Given the description of an element on the screen output the (x, y) to click on. 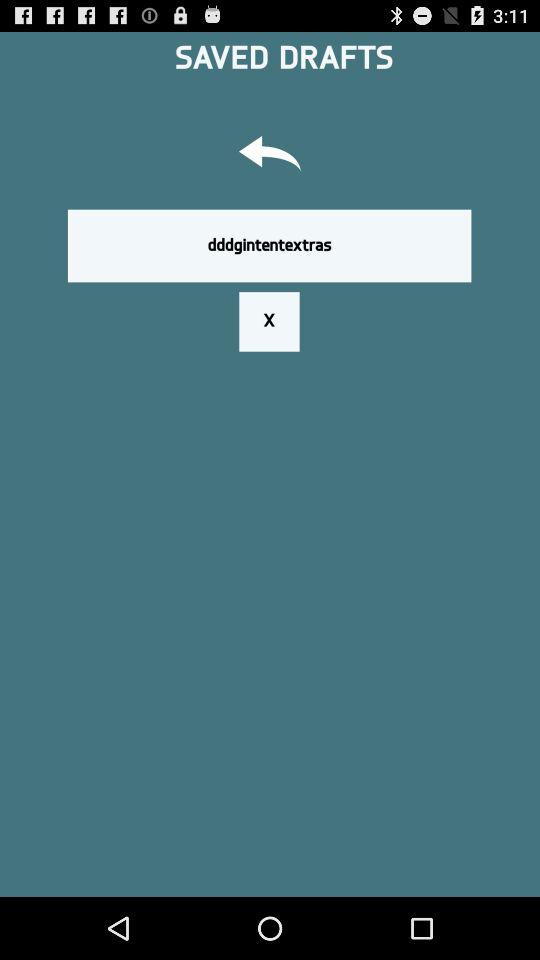
open the item above the dddgintentextras icon (269, 155)
